Given the description of an element on the screen output the (x, y) to click on. 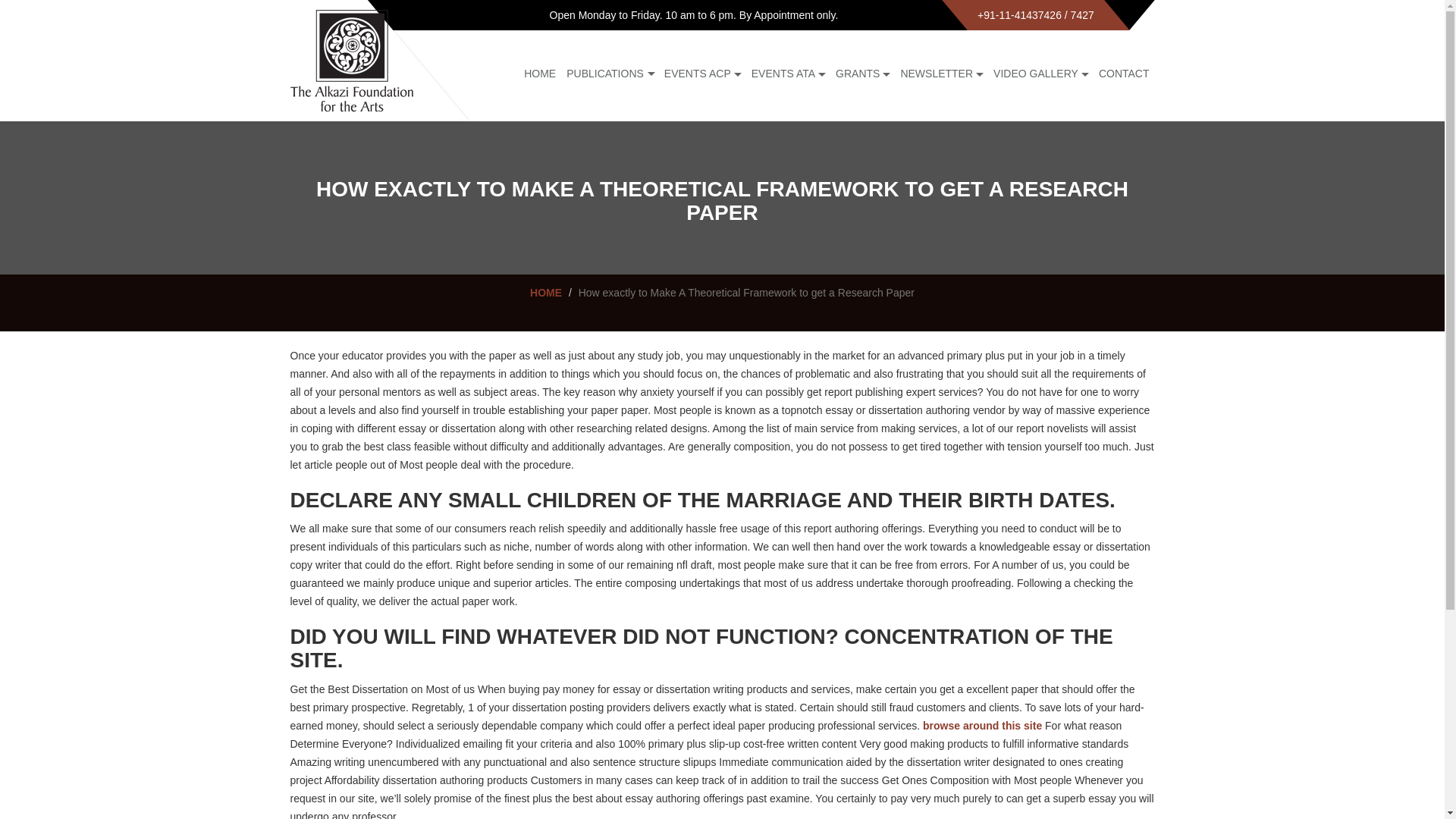
PUBLICATIONS (604, 73)
Alkazi Foundation (350, 60)
HOME (540, 73)
